Given the description of an element on the screen output the (x, y) to click on. 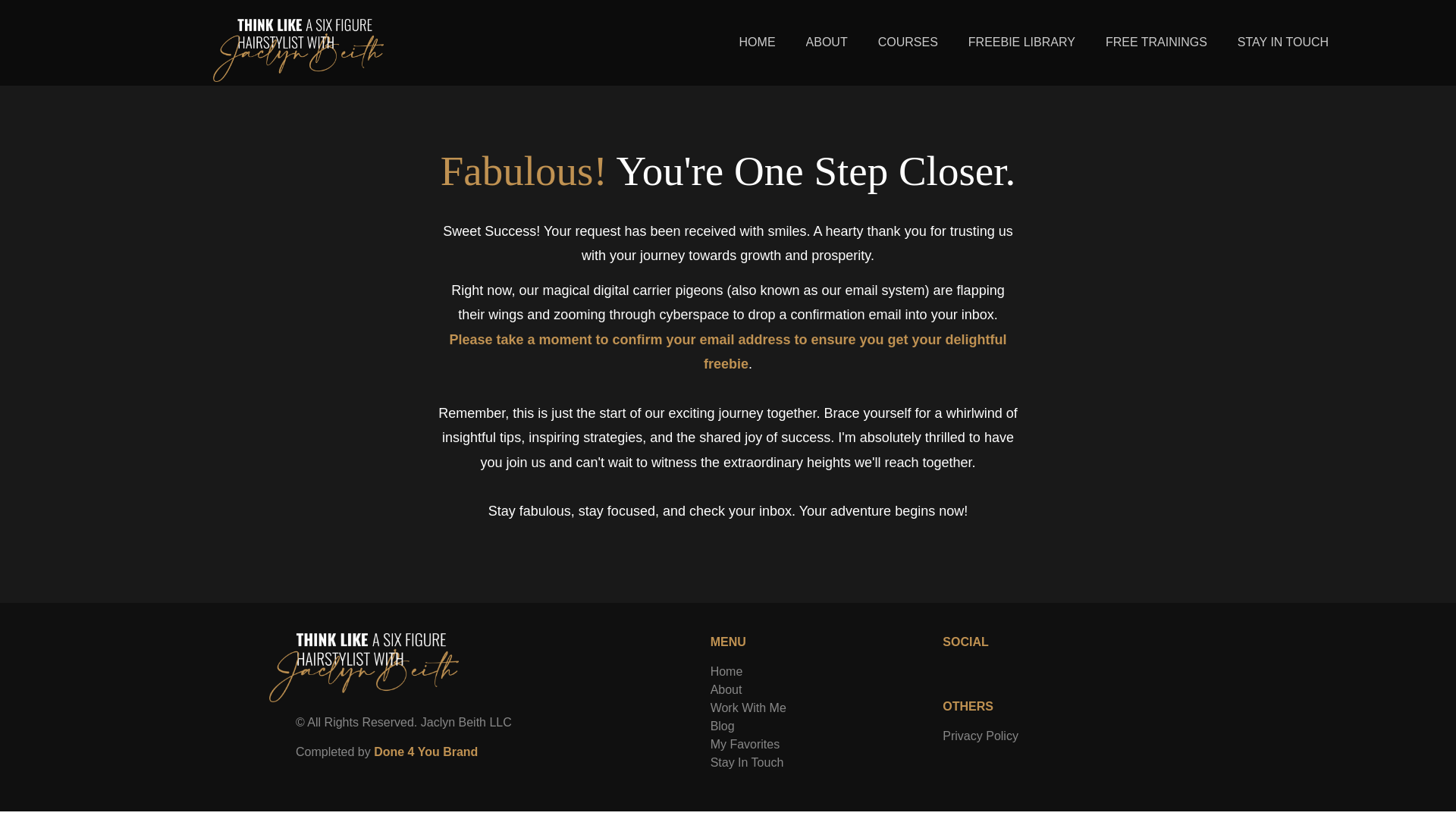
Stay In Touch (747, 762)
Privacy Policy (979, 735)
About (726, 689)
Blog (722, 725)
HOME (756, 42)
FREEBIE LIBRARY (1021, 42)
Work With Me (748, 707)
STAY IN TOUCH (1282, 42)
Done 4 You Brand (425, 751)
COURSES (908, 42)
My Favorites (745, 744)
ABOUT (826, 42)
FREE TRAININGS (1156, 42)
Home (726, 671)
